Given the description of an element on the screen output the (x, y) to click on. 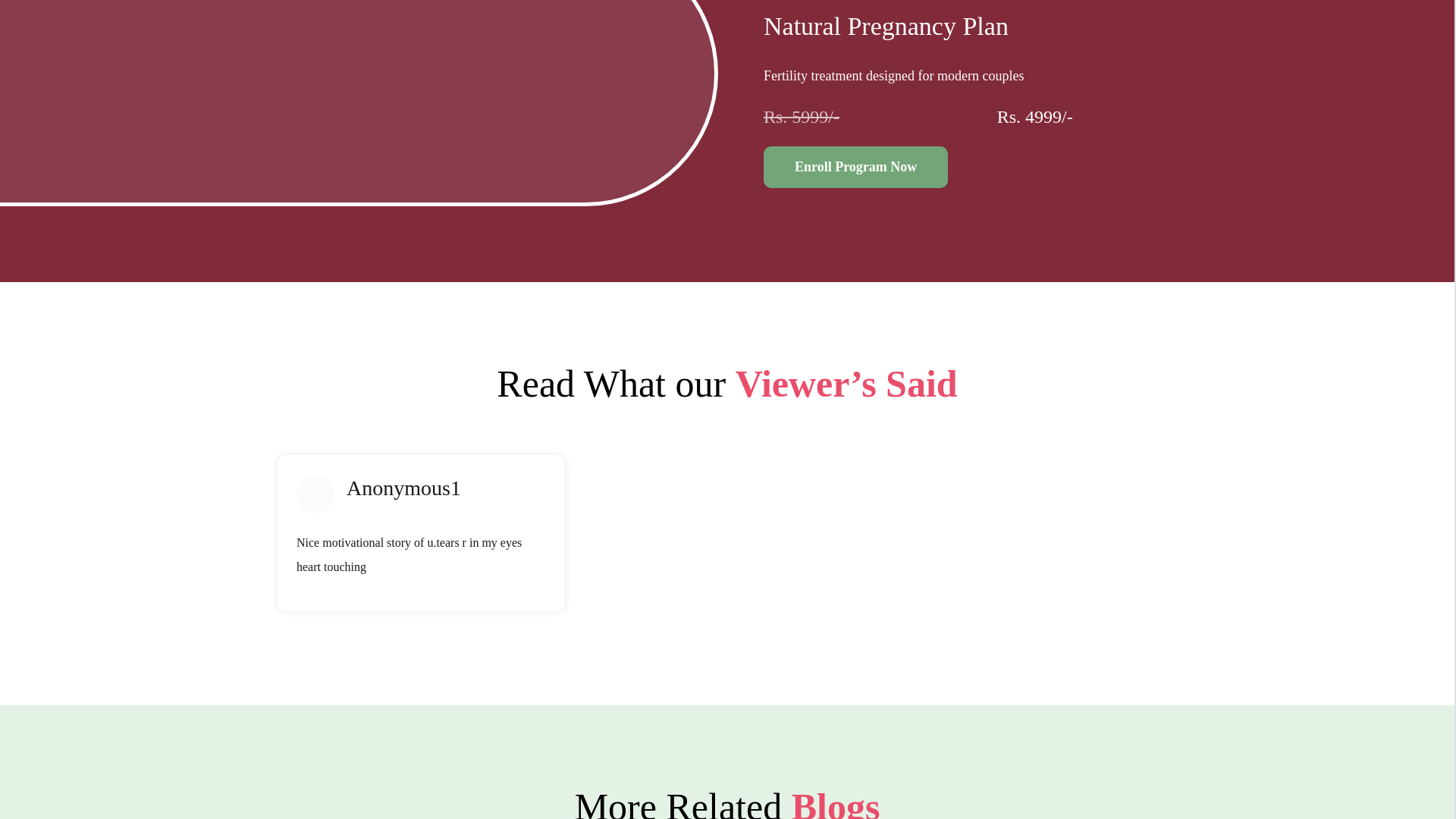
Enroll Program Now (854, 167)
